Given the description of an element on the screen output the (x, y) to click on. 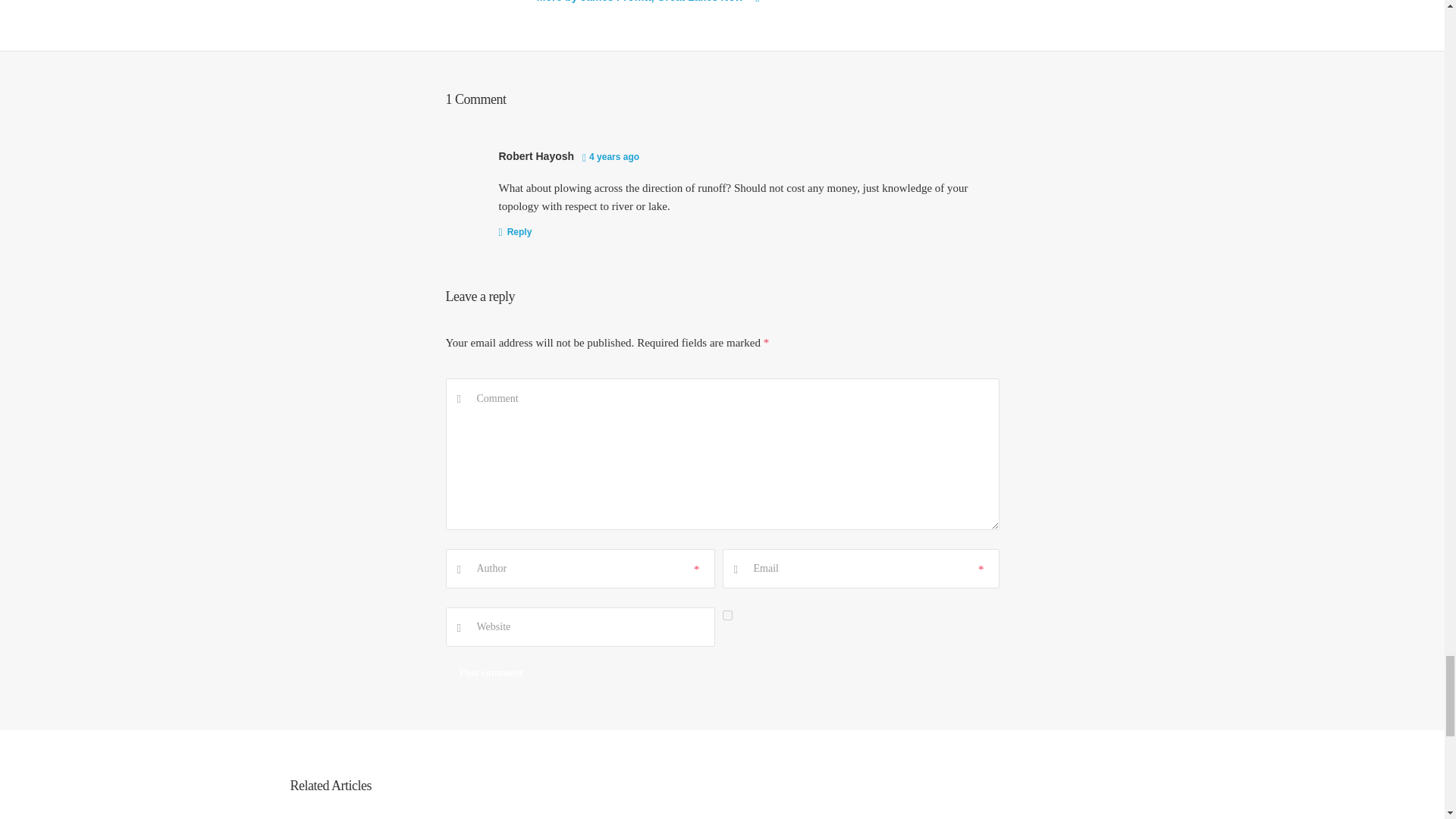
Post comment (491, 673)
yes (727, 614)
